Given the description of an element on the screen output the (x, y) to click on. 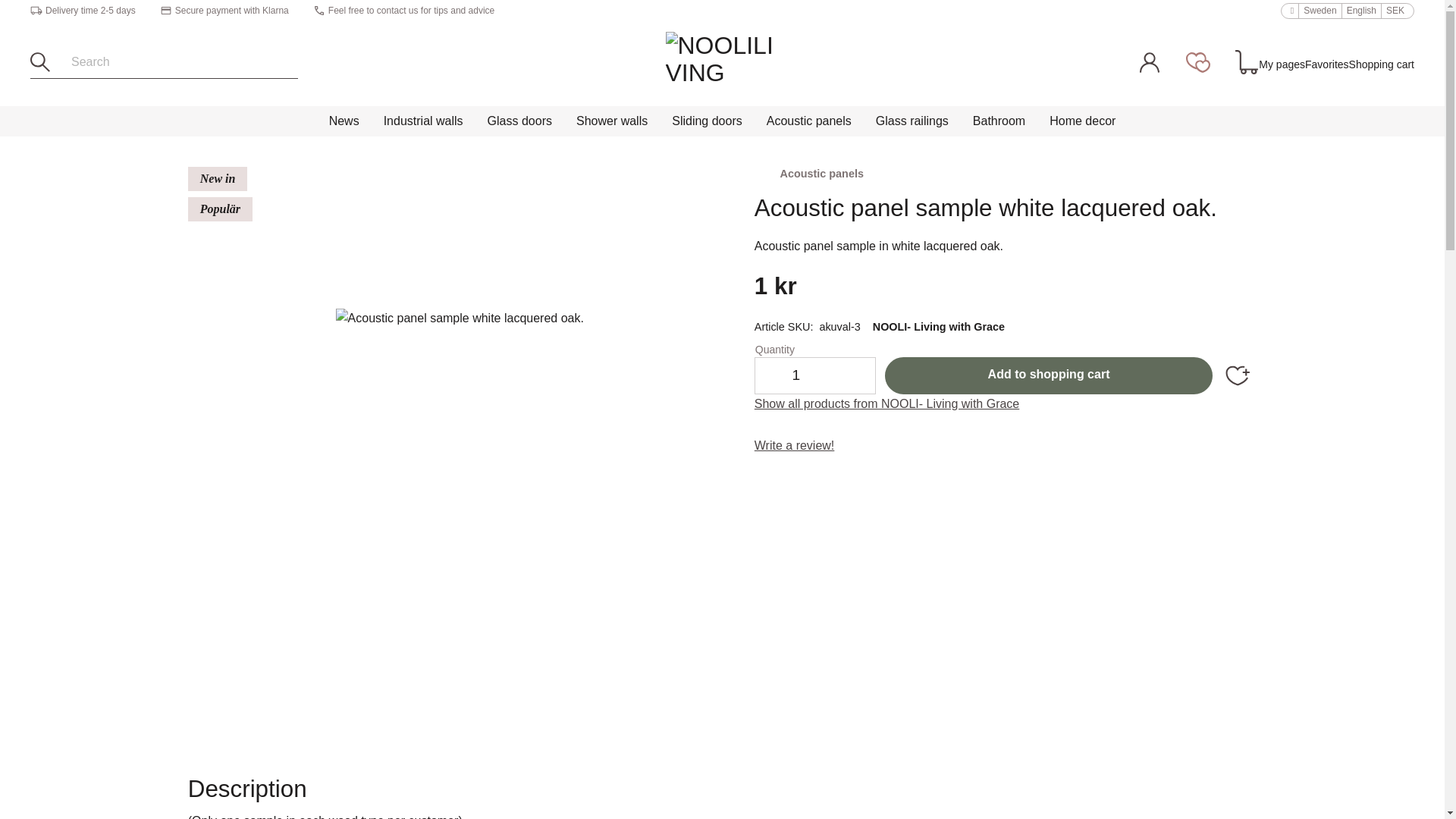
Glass doors (520, 121)
Acoustic panels (808, 121)
1 (796, 375)
Glass railings (911, 121)
Bathroom (998, 121)
Home decor (1081, 121)
Home decor (1081, 121)
Sliding doors (706, 121)
Glass doors (520, 121)
Industrial walls (423, 121)
